Given the description of an element on the screen output the (x, y) to click on. 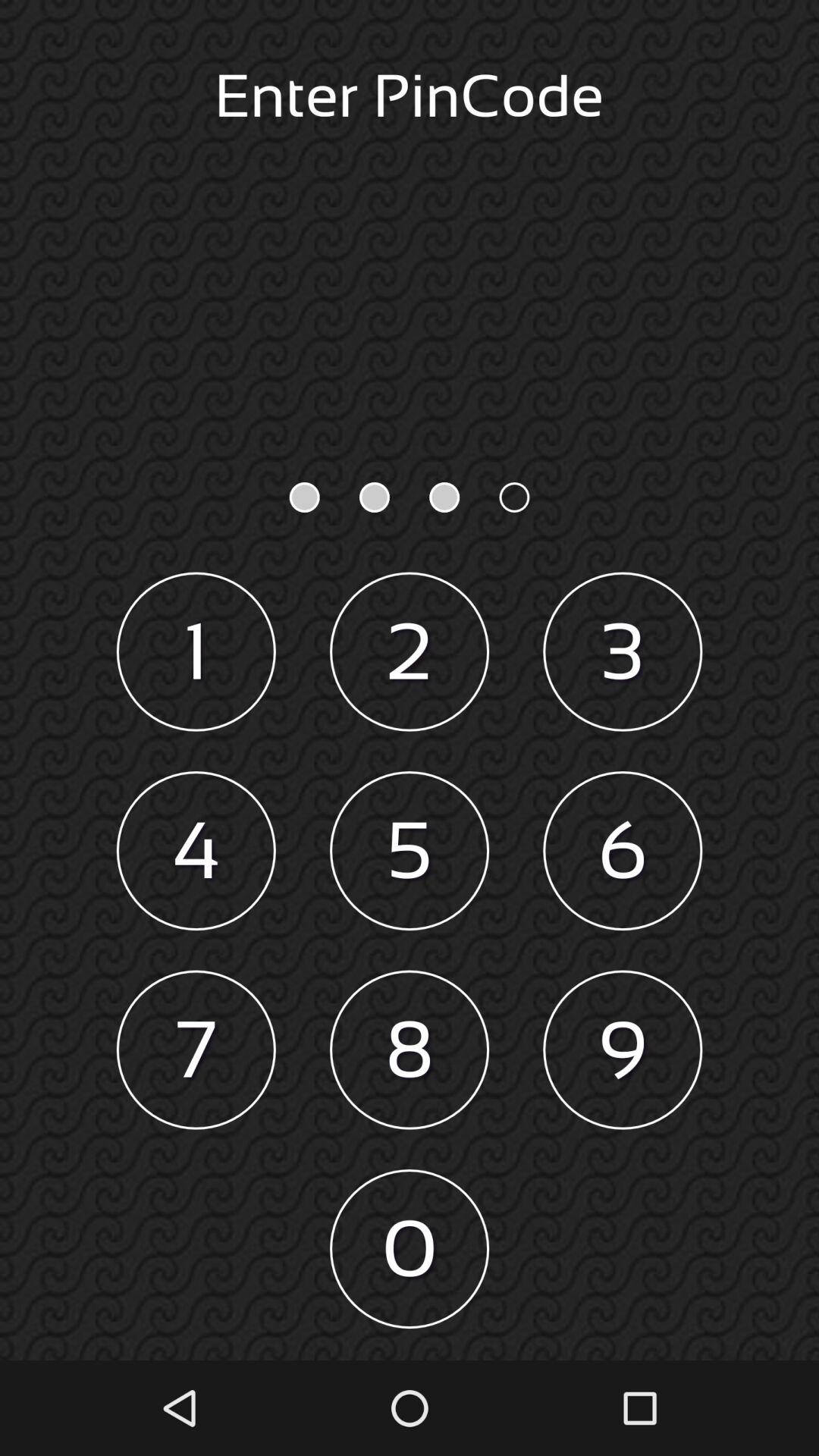
press icon at the bottom right corner (622, 1049)
